Given the description of an element on the screen output the (x, y) to click on. 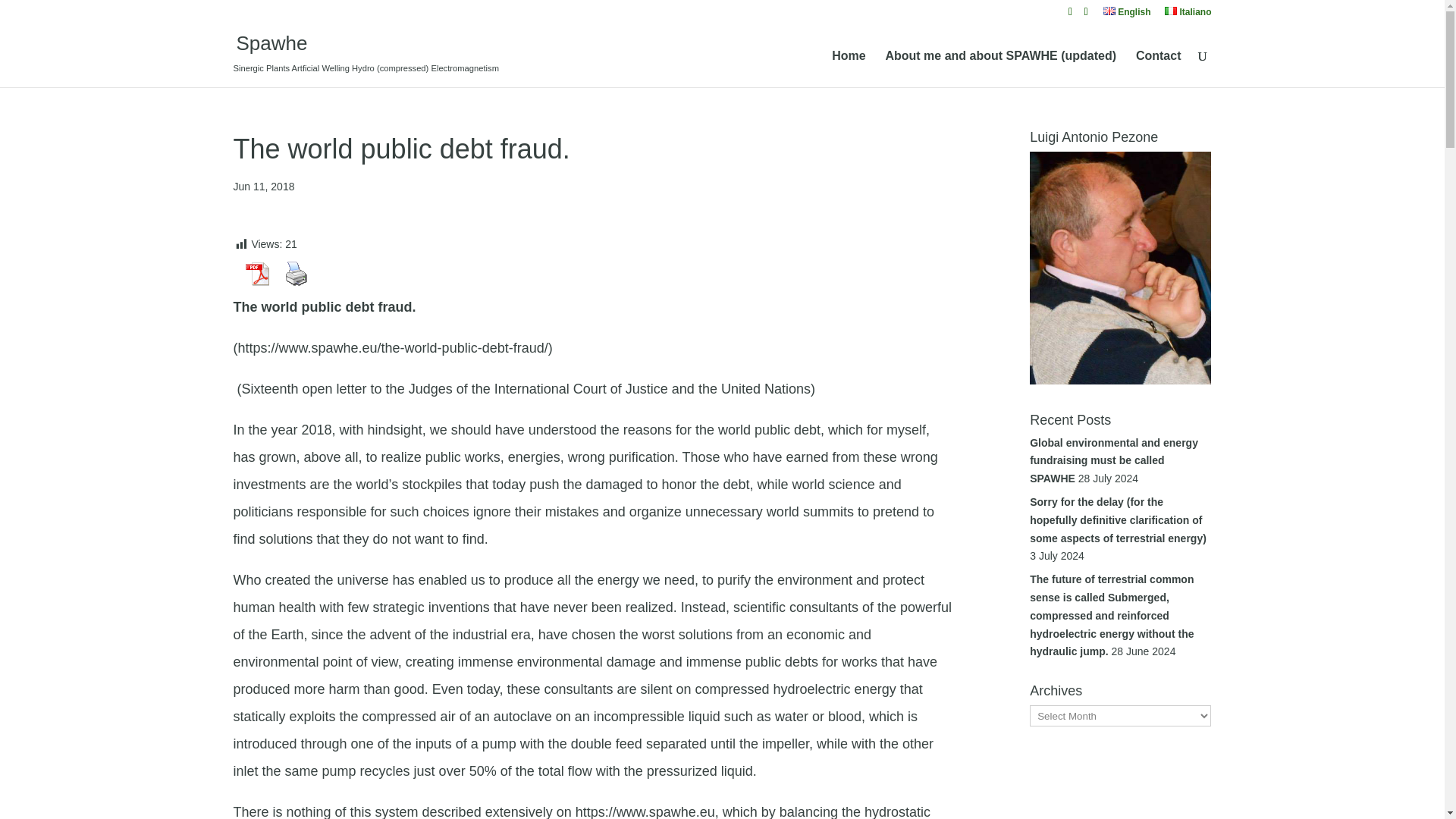
Print Content (297, 273)
Italiano (1187, 14)
Home (847, 67)
English (1127, 14)
Download PDF (257, 273)
Contact (1157, 67)
